Given the description of an element on the screen output the (x, y) to click on. 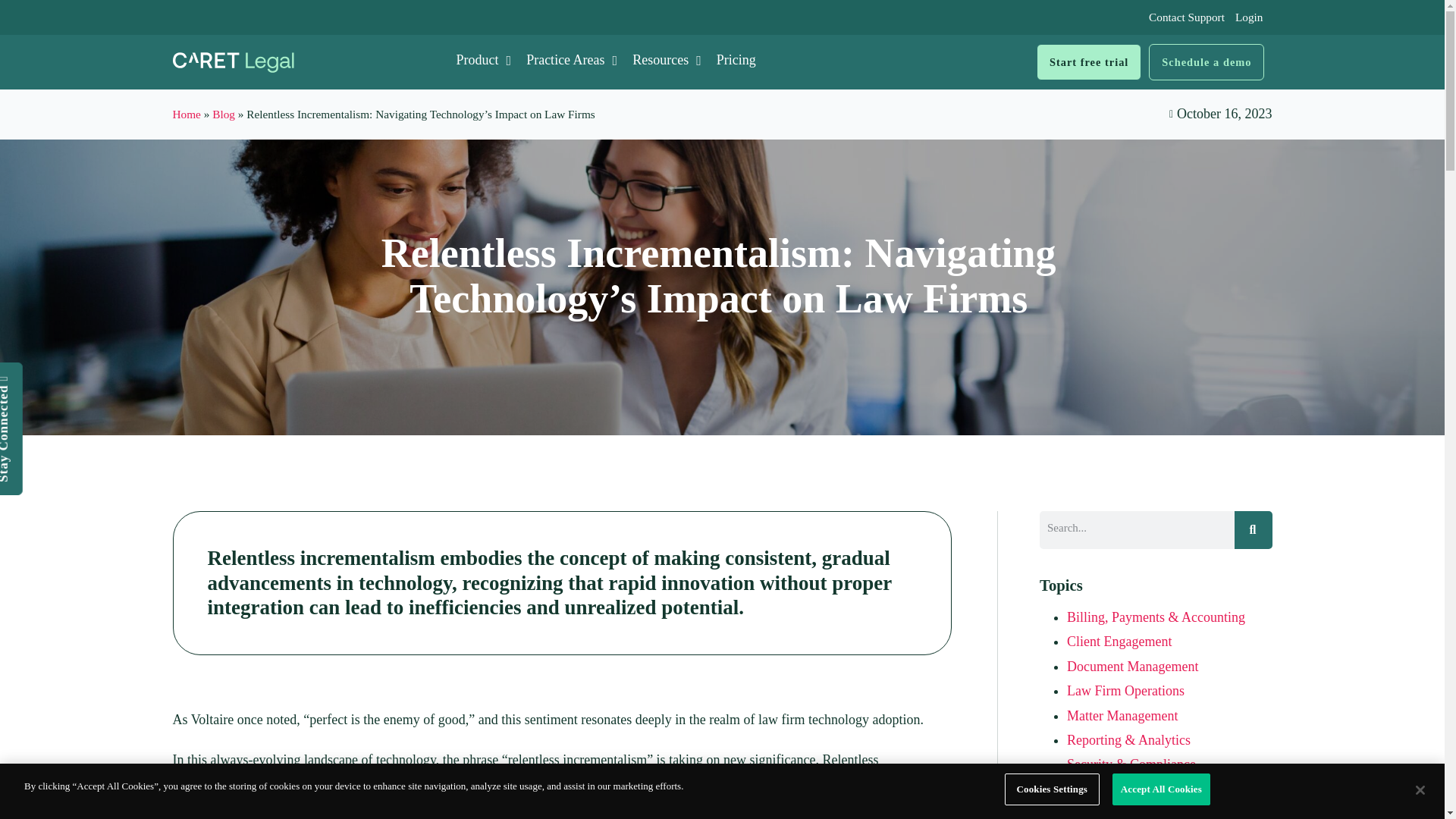
Practice Areas (571, 59)
Login (1249, 17)
Contact Support (1186, 17)
Product (483, 59)
